Given the description of an element on the screen output the (x, y) to click on. 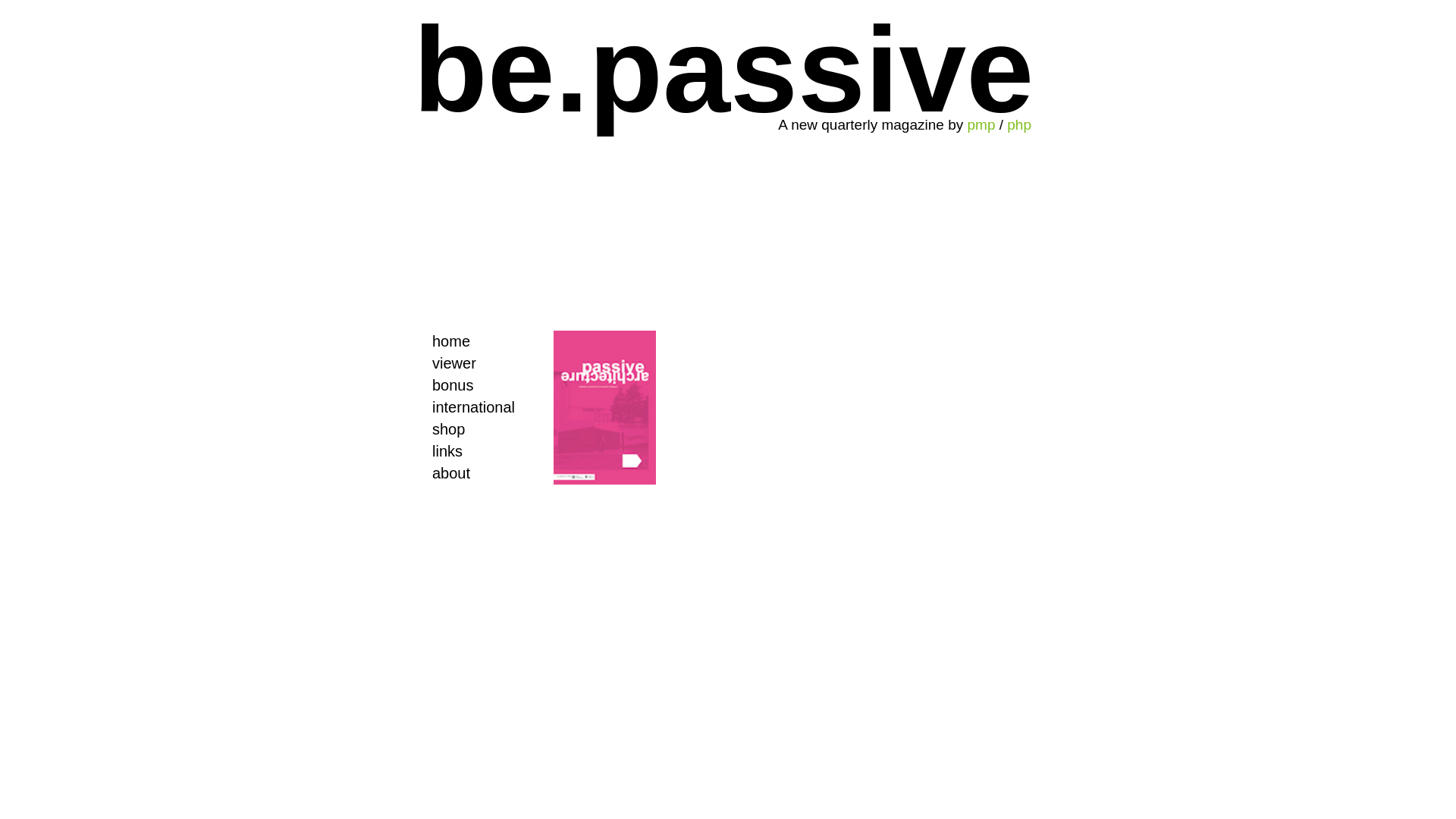
php Element type: text (1019, 124)
bonus Element type: text (470, 385)
about Element type: text (470, 473)
viewer Element type: text (470, 363)
home Element type: text (470, 341)
international Element type: text (470, 407)
pmp Element type: text (980, 124)
links Element type: text (470, 451)
shop Element type: text (470, 429)
be.passive Element type: text (723, 69)
